Given the description of an element on the screen output the (x, y) to click on. 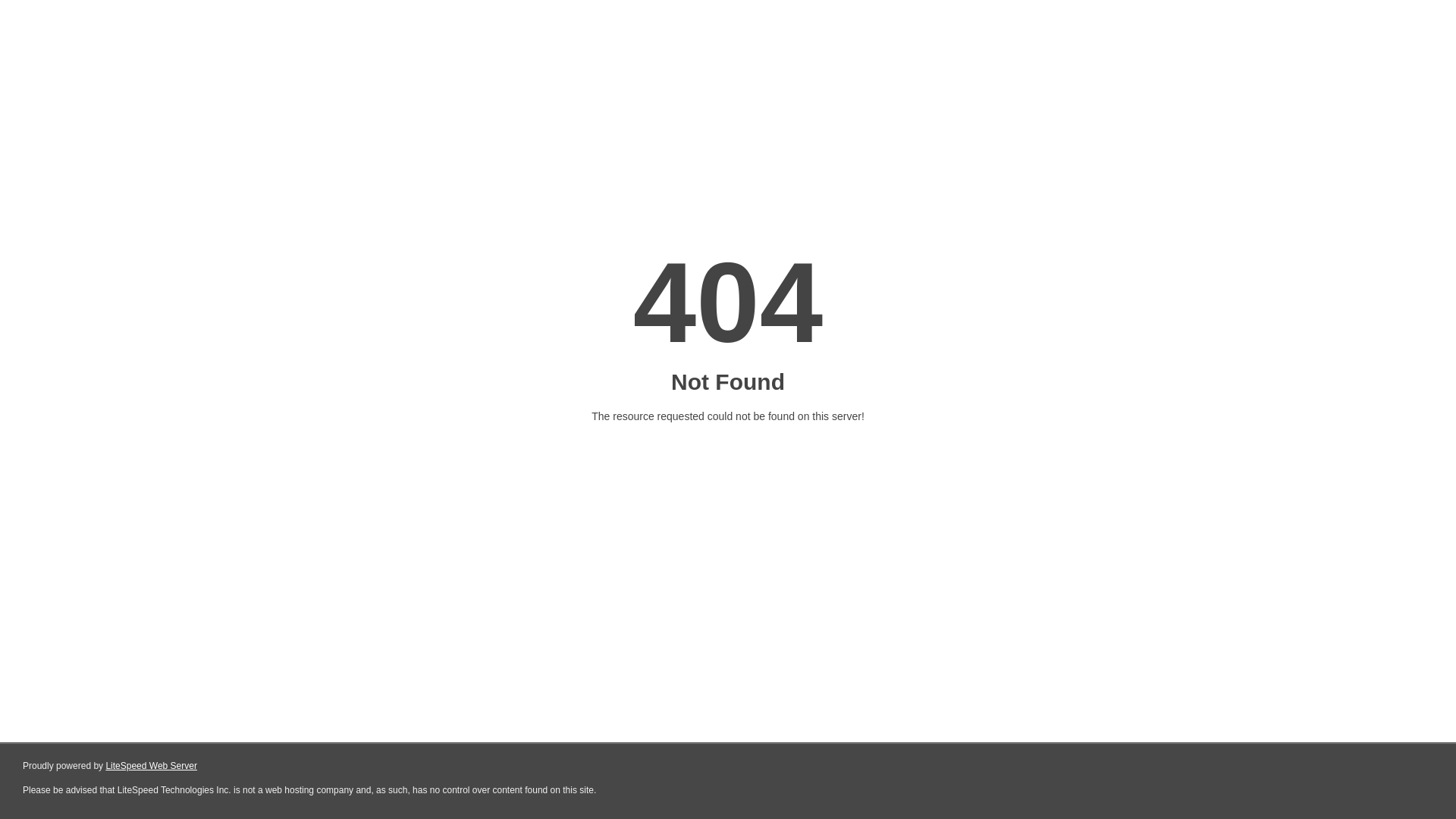
LiteSpeed Web Server Element type: text (151, 765)
